Given the description of an element on the screen output the (x, y) to click on. 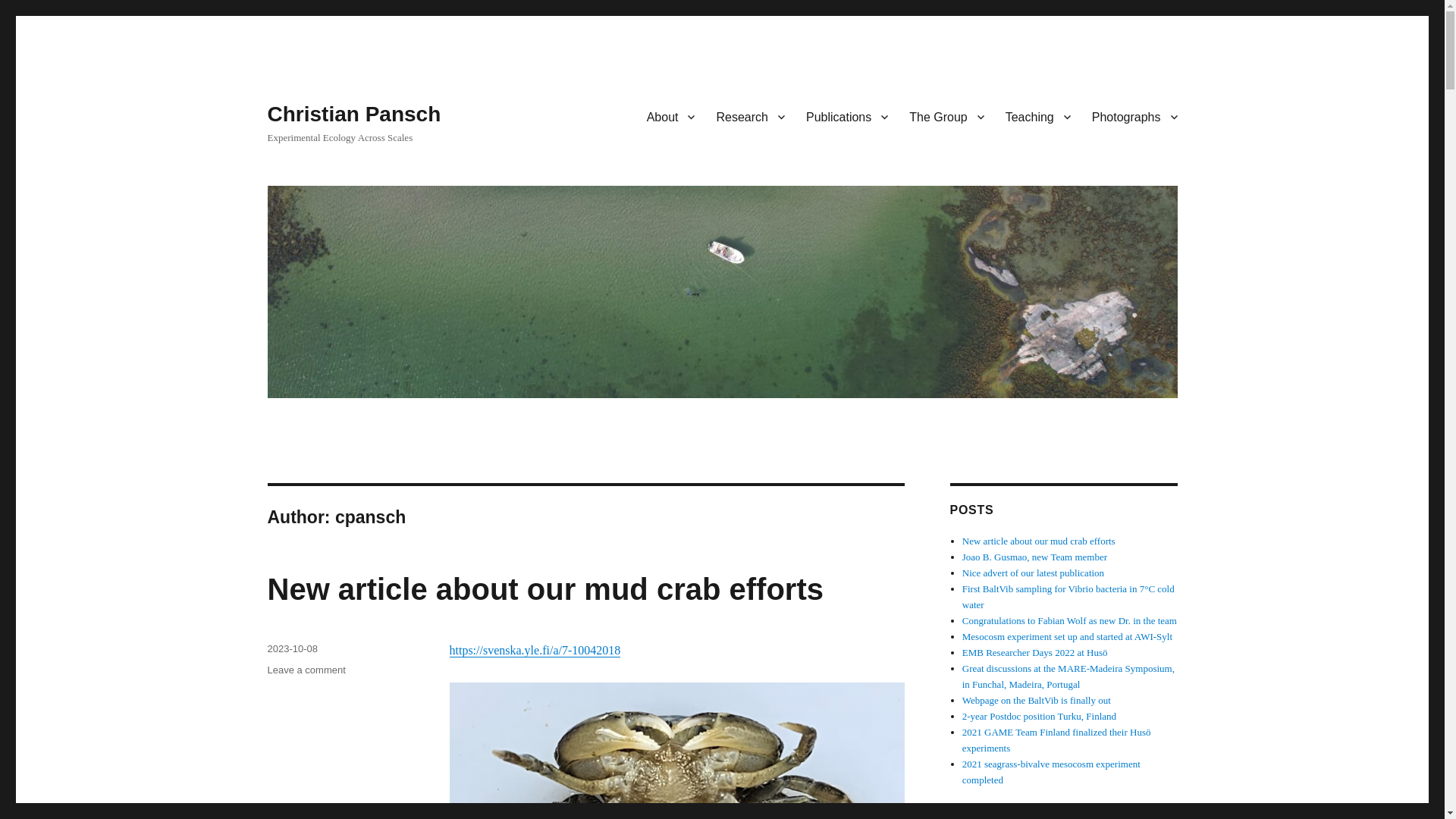
Christian Pansch (353, 114)
Research (749, 116)
Publications (846, 116)
The Group (946, 116)
About (671, 116)
